Given the description of an element on the screen output the (x, y) to click on. 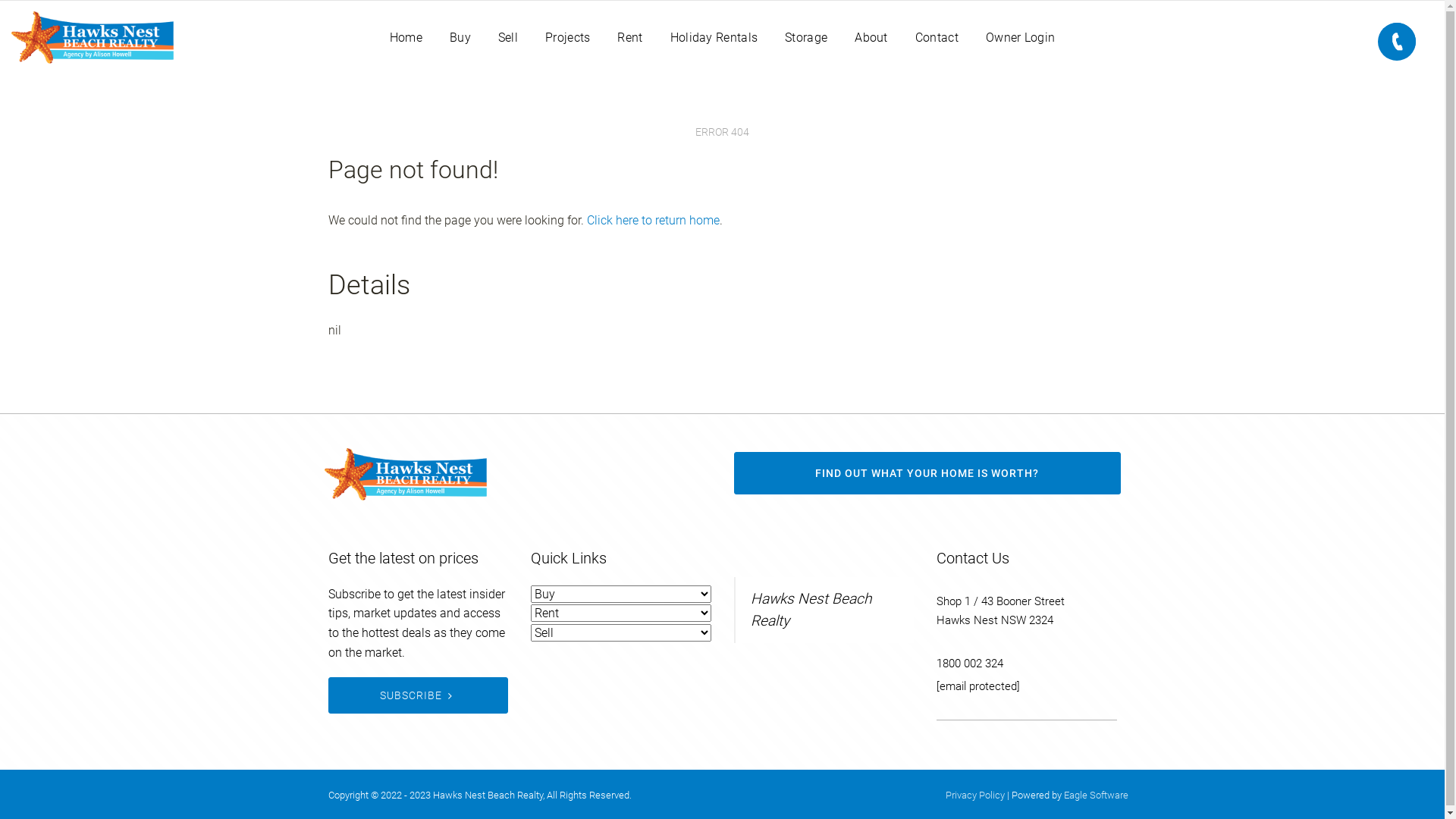
Sell Element type: text (507, 37)
Storage Element type: text (805, 37)
Home Element type: text (405, 37)
Owner Login Element type: text (1019, 37)
Holiday Rentals Element type: text (714, 37)
Click here to return home Element type: text (652, 220)
Hawks Nest Beach Realty Element type: text (811, 609)
Privacy Policy Element type: text (974, 794)
Eagle Software Element type: text (1095, 794)
SUBSCRIBE Element type: text (417, 695)
Contact Element type: text (936, 37)
FIND OUT WHAT YOUR HOME IS WORTH? Element type: text (927, 473)
Projects Element type: text (567, 37)
[email protected] Element type: text (977, 686)
Rent Element type: text (629, 37)
1800 002 324 Element type: text (969, 663)
About Element type: text (871, 37)
Buy Element type: text (459, 37)
